Given the description of an element on the screen output the (x, y) to click on. 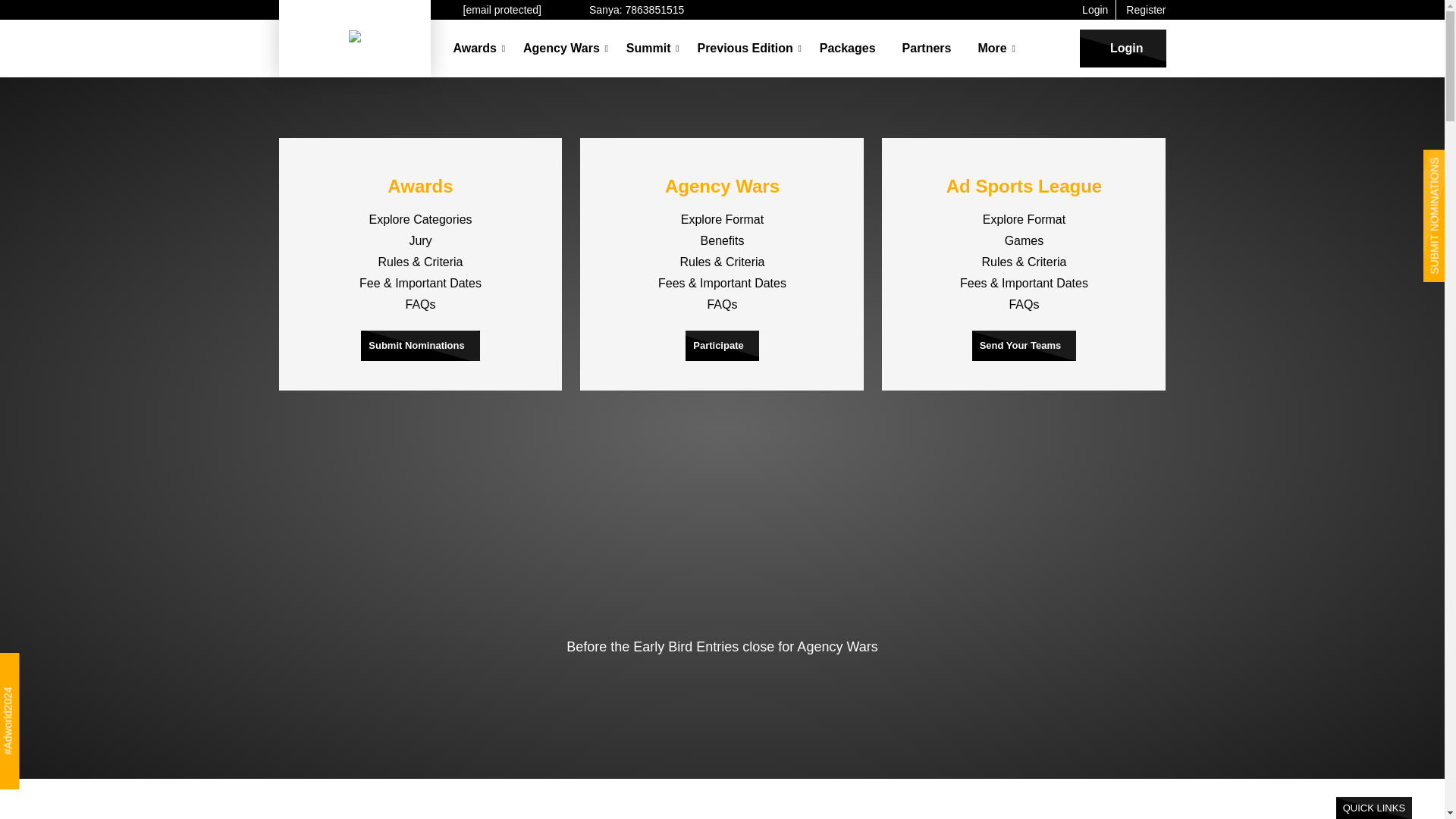
Login (1123, 48)
Packages (847, 48)
Partners (927, 48)
Register (1145, 9)
Previous Edition (744, 48)
Login (1094, 9)
Jury (419, 240)
Explore Categories (419, 219)
Agency Wars (560, 48)
